Given the description of an element on the screen output the (x, y) to click on. 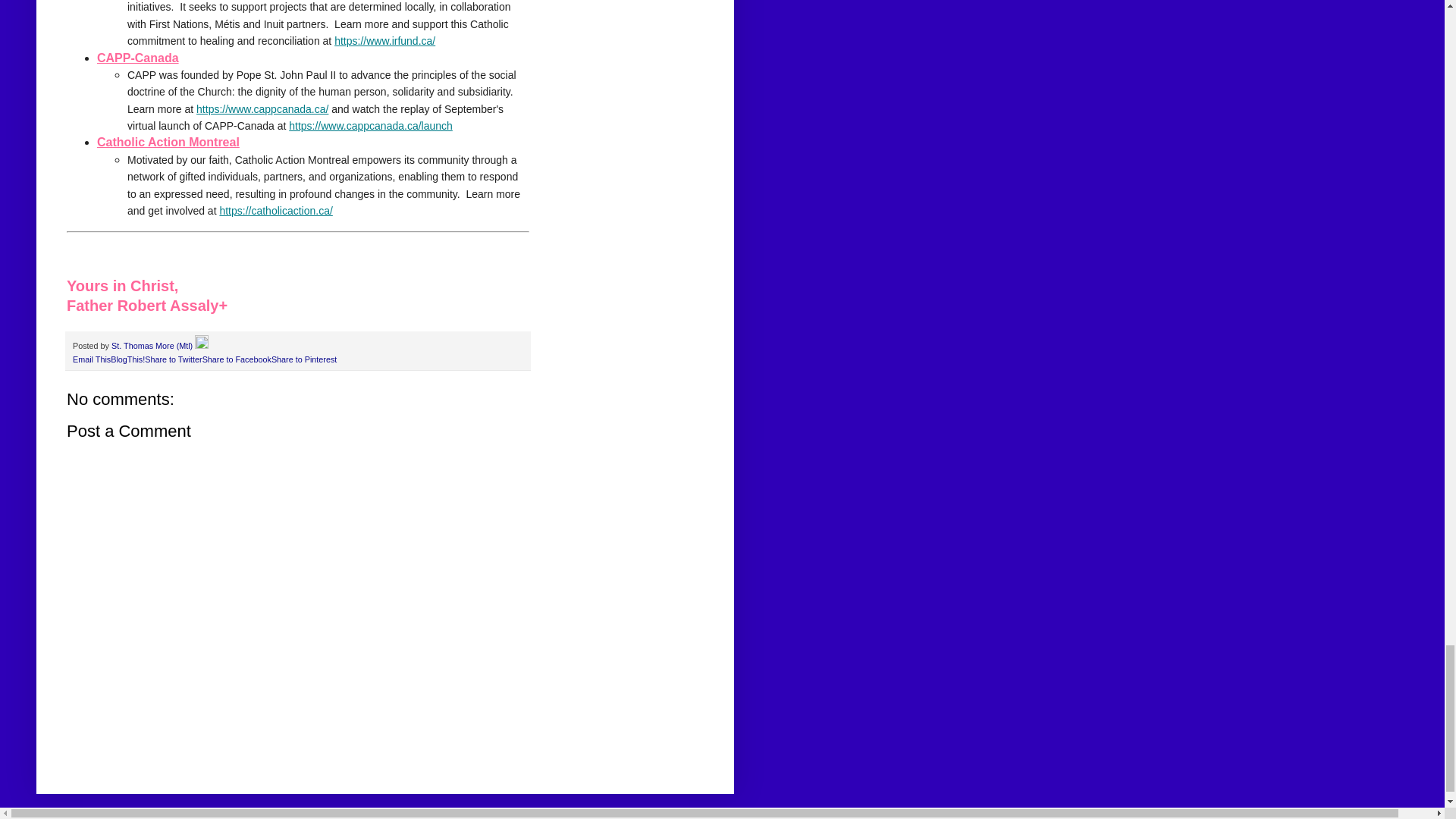
Email This (91, 358)
Share to Twitter (173, 358)
Edit Post (201, 345)
BlogThis! (127, 358)
Share to Pinterest (303, 358)
author profile (153, 345)
Share to Facebook (236, 358)
Email This (91, 358)
BlogThis! (127, 358)
Share to Facebook (236, 358)
Share to Pinterest (303, 358)
Share to Twitter (173, 358)
